Given the description of an element on the screen output the (x, y) to click on. 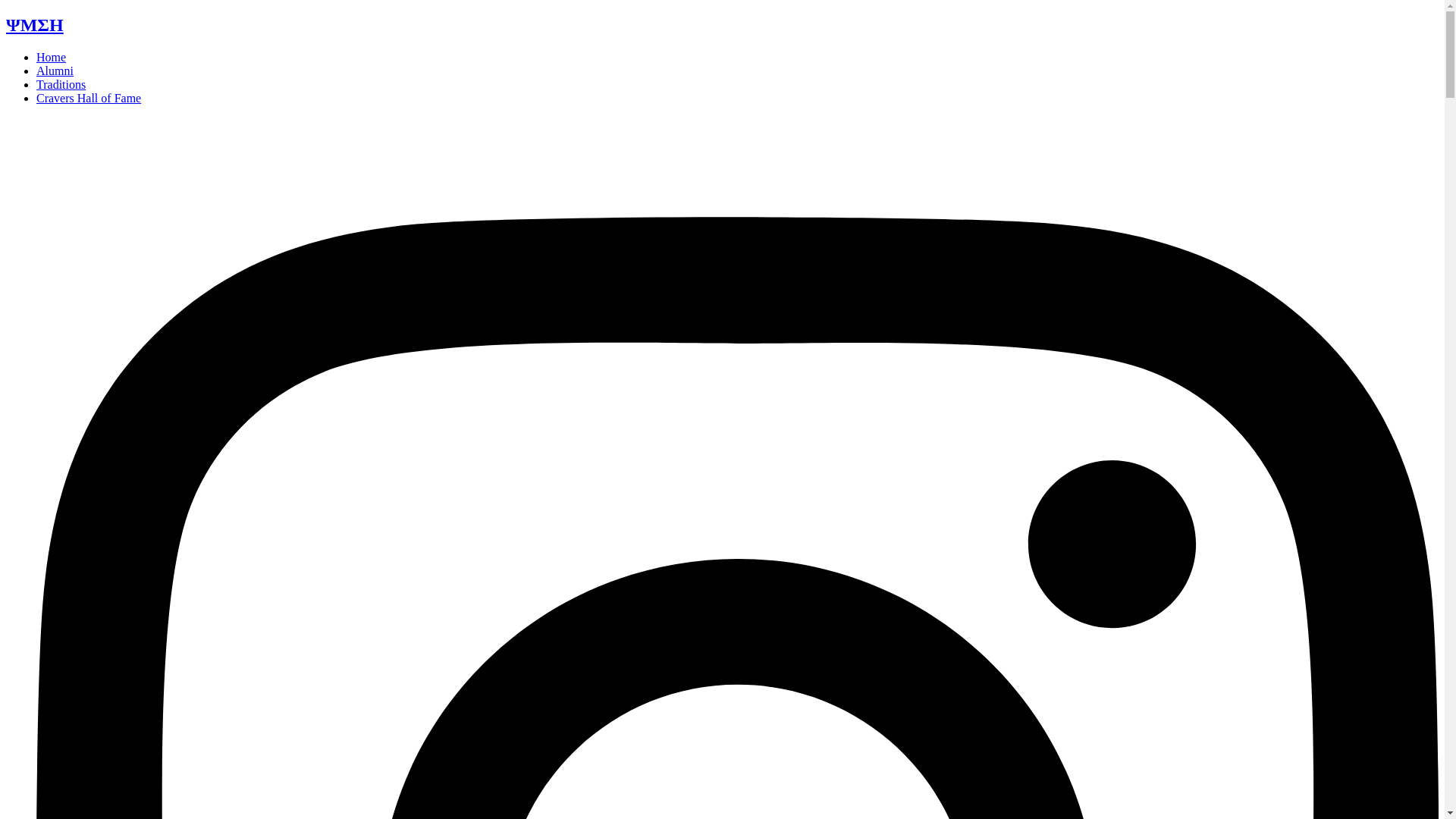
Home (50, 56)
Cravers Hall of Fame (88, 97)
Alumni (55, 70)
Traditions (60, 83)
